Given the description of an element on the screen output the (x, y) to click on. 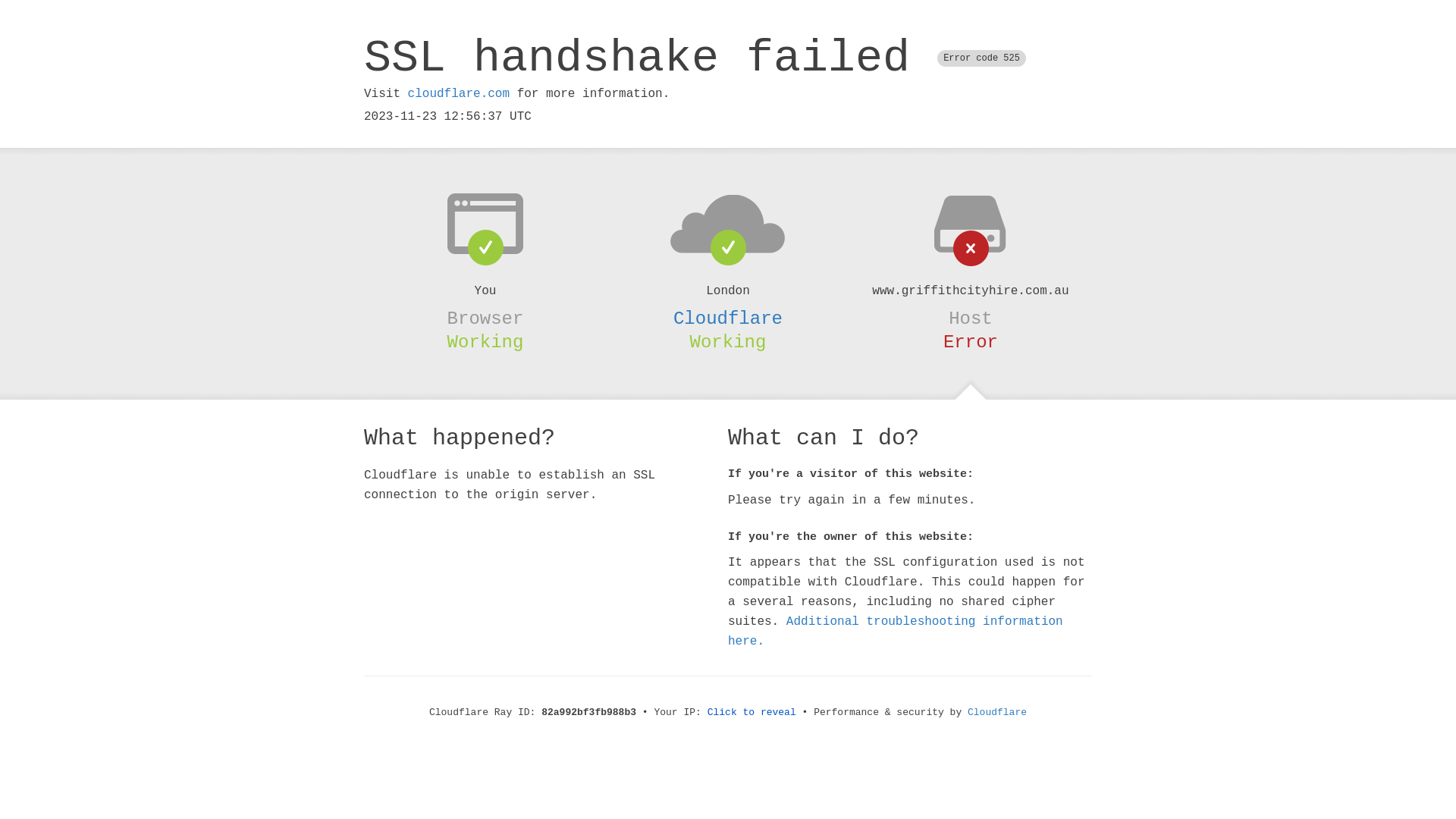
Additional troubleshooting information here. Element type: text (895, 631)
cloudflare.com Element type: text (458, 93)
Cloudflare Element type: text (727, 318)
Click to reveal Element type: text (751, 712)
Cloudflare Element type: text (996, 712)
